Given the description of an element on the screen output the (x, y) to click on. 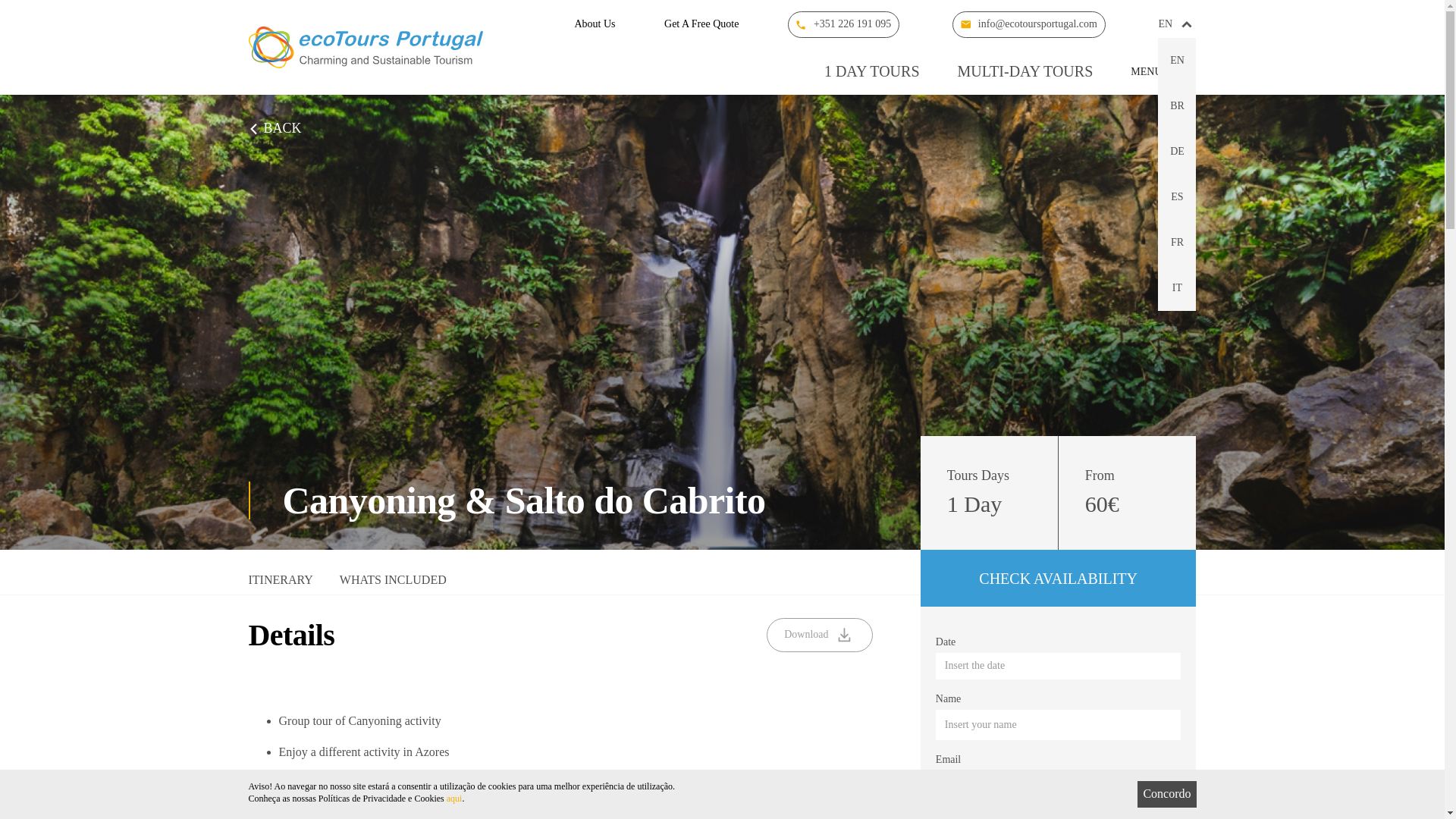
BACK (274, 128)
1 DAY TOURS (872, 71)
Download (819, 634)
WHATS INCLUDED (392, 583)
About Us (593, 24)
MULTI-DAY TOURS (1025, 71)
Get A Free Quote (700, 24)
MENU (1163, 71)
ITINERARY (280, 583)
